Given the description of an element on the screen output the (x, y) to click on. 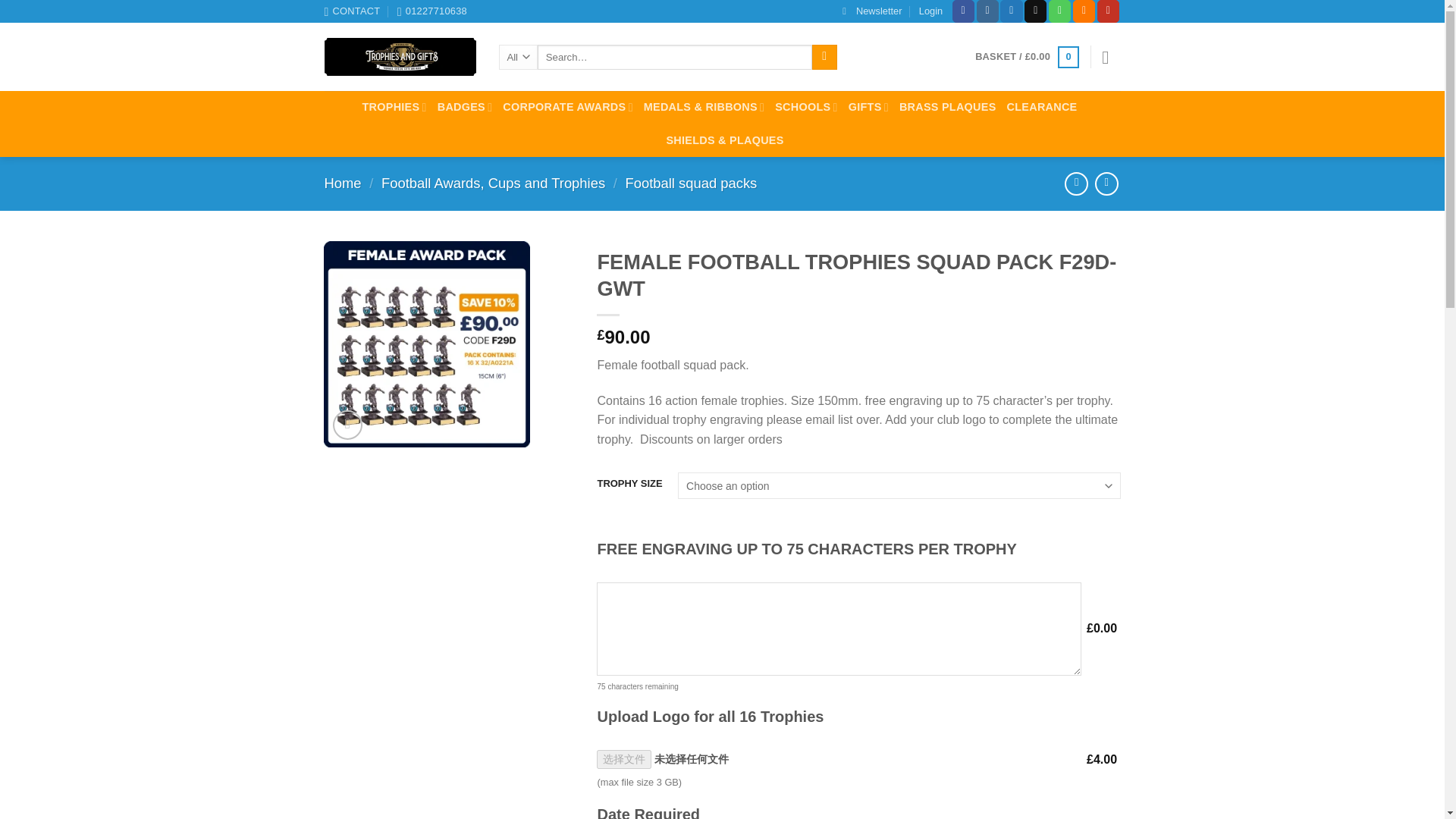
Follow on Instagram (987, 11)
Subscribe to RSS (1083, 11)
Login (930, 11)
Trophies gifts - Trophies and Medals Online Shop (400, 56)
Newsletter (872, 11)
Basket (1026, 57)
Follow on Twitter (1011, 11)
Follow on Facebook (963, 11)
Login (930, 11)
Search (824, 57)
Call us (1059, 11)
CONTACT (352, 11)
Follow on YouTube (1108, 11)
01227710638 (432, 11)
Send us an email (1035, 11)
